Given the description of an element on the screen output the (x, y) to click on. 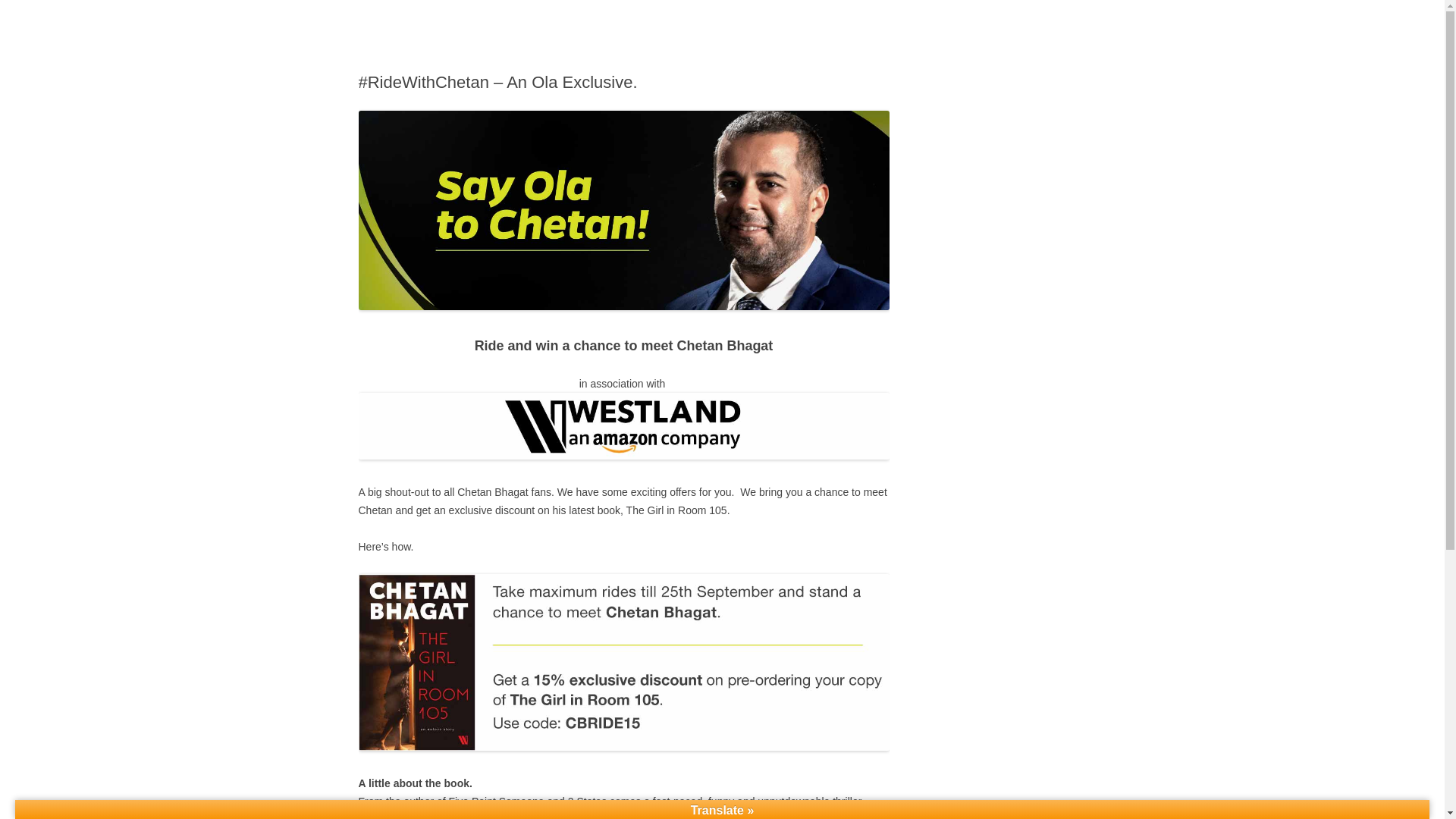
Olacabs Blogs (426, 36)
